Given the description of an element on the screen output the (x, y) to click on. 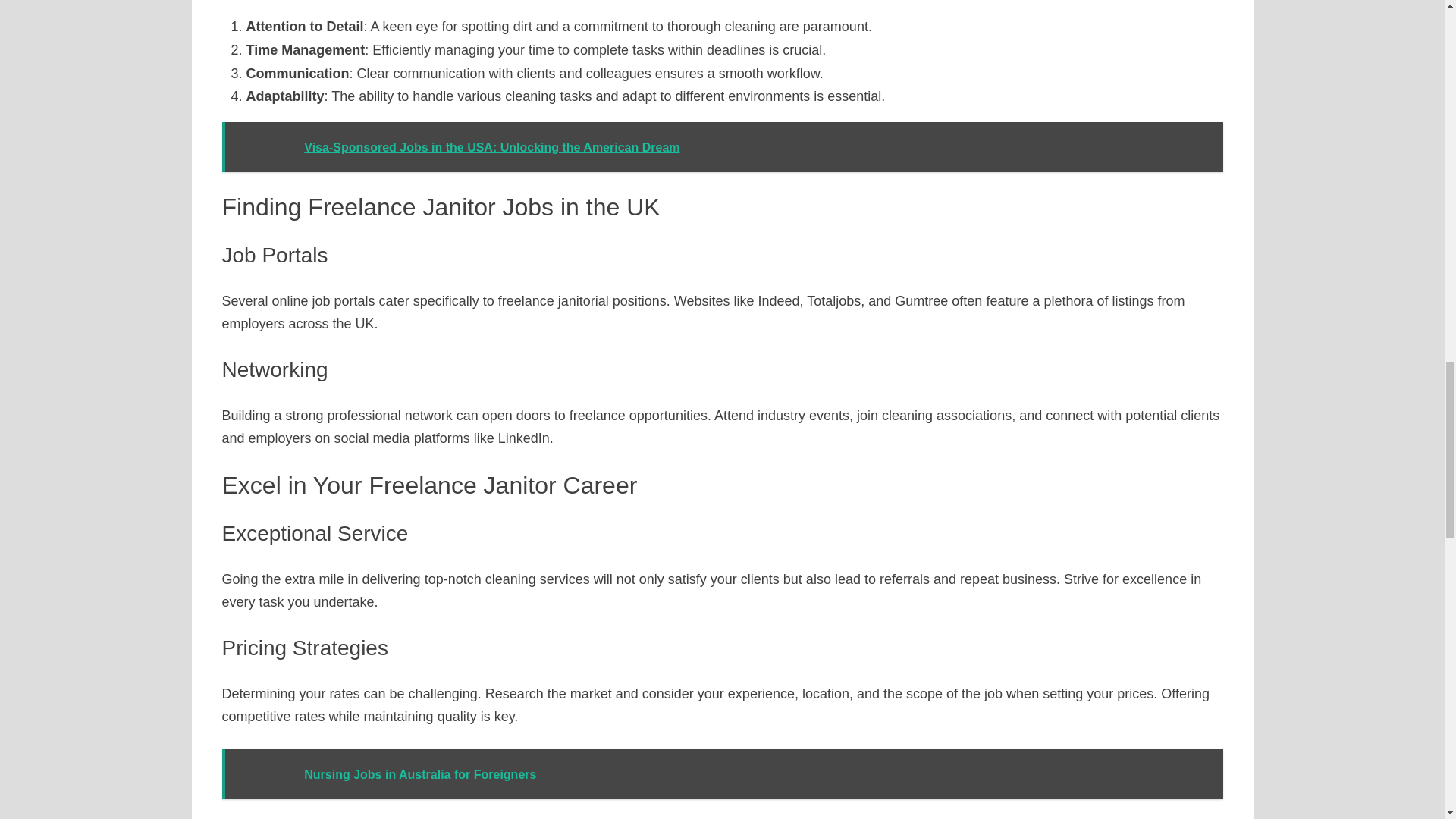
See Also :  Nursing Jobs in Australia for Foreigners (722, 774)
